Given the description of an element on the screen output the (x, y) to click on. 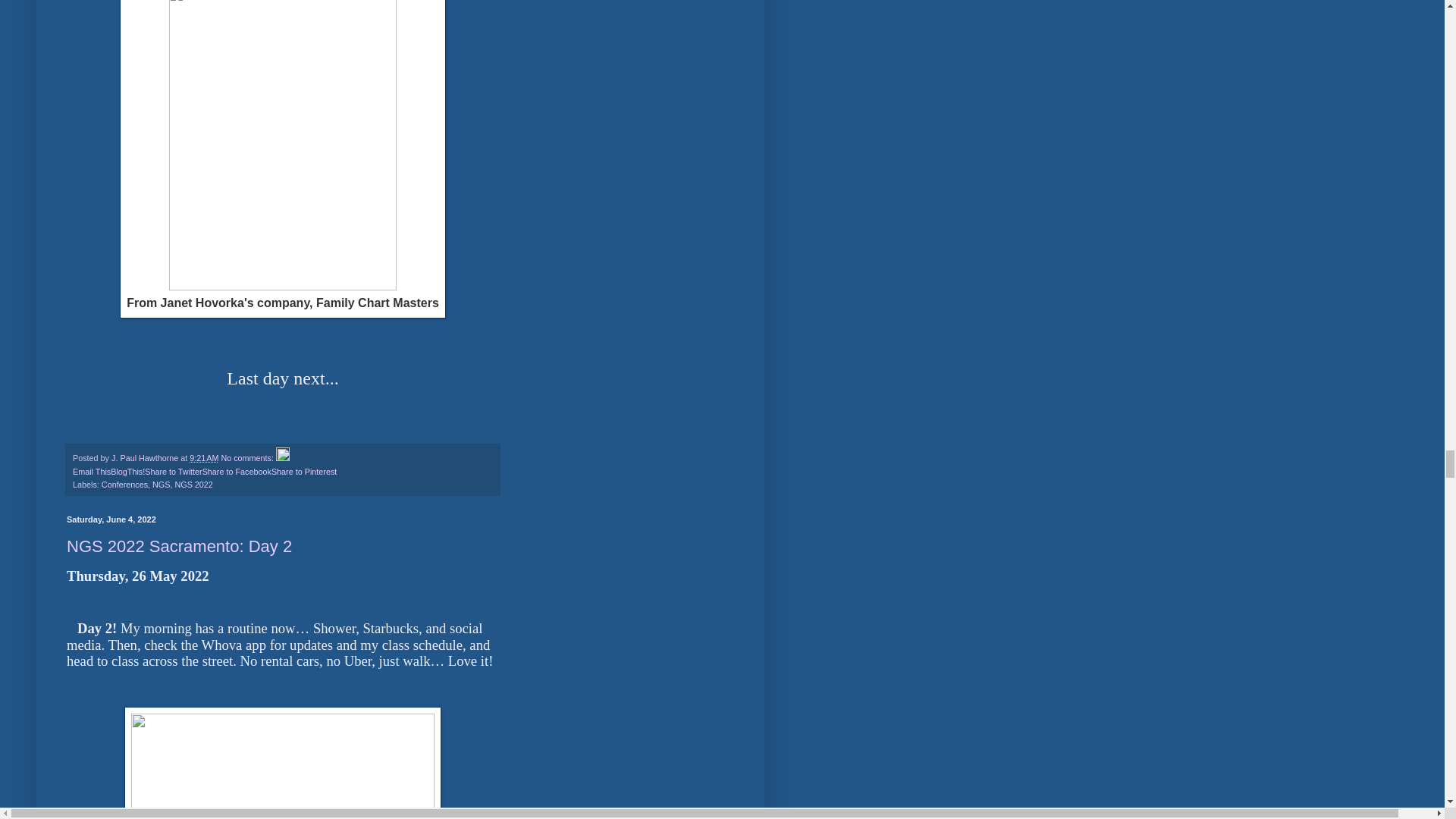
Share to Twitter (173, 470)
author profile (146, 457)
Edit Post (282, 457)
BlogThis! (127, 470)
Share to Facebook (236, 470)
permanent link (203, 457)
Email This (91, 470)
